Given the description of an element on the screen output the (x, y) to click on. 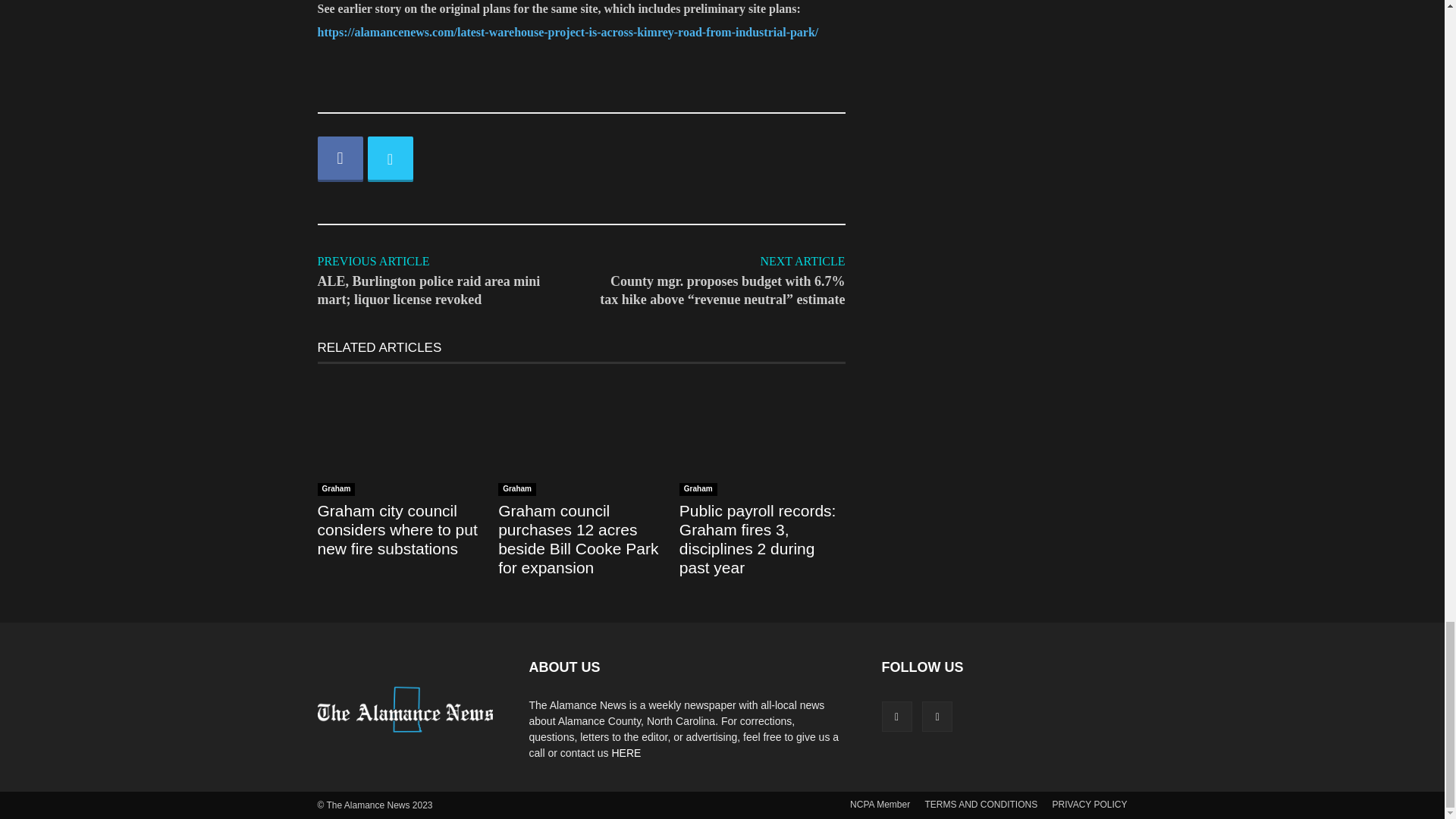
Twitter (389, 158)
Facebook (339, 158)
